Given the description of an element on the screen output the (x, y) to click on. 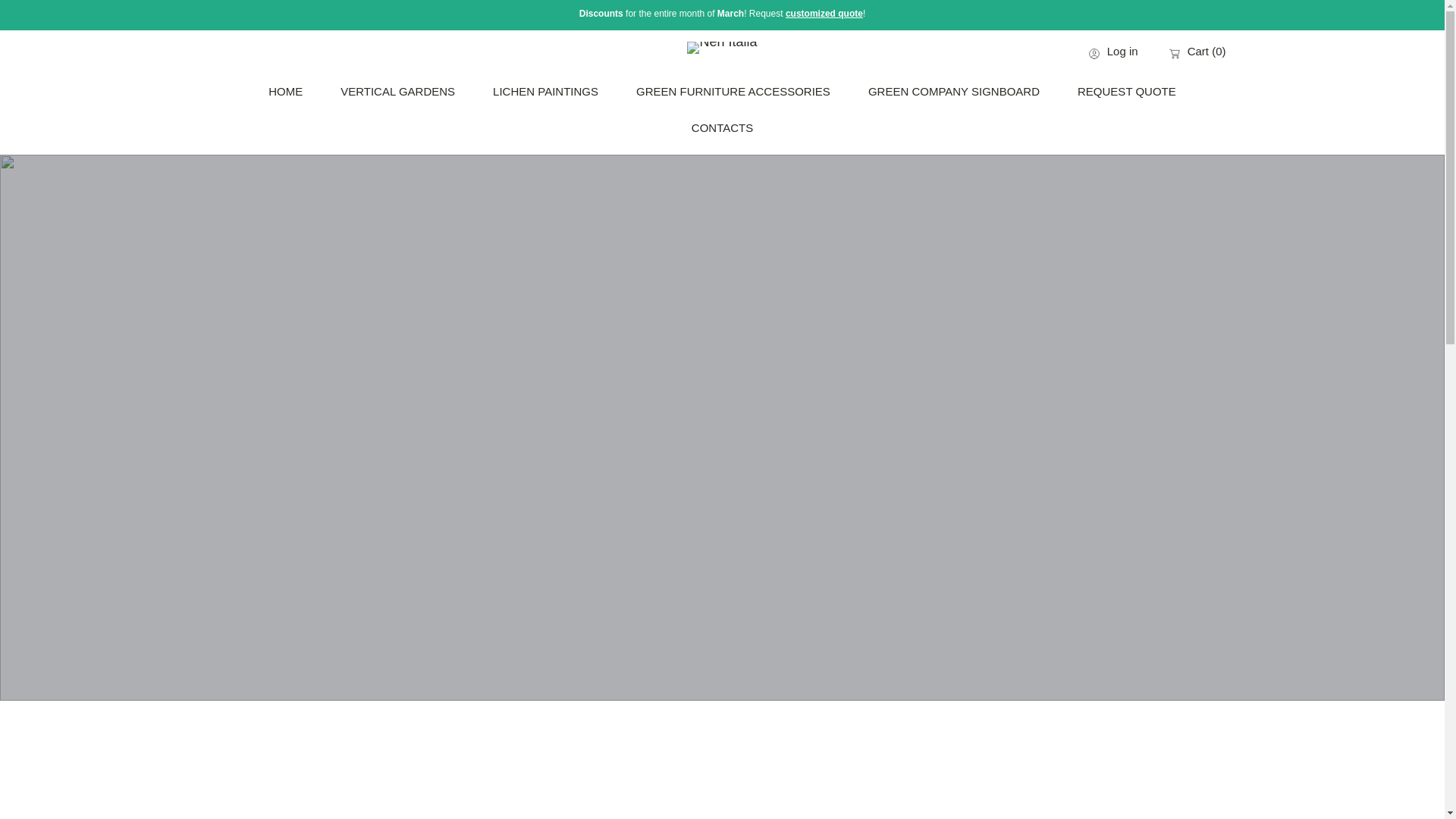
CONTACTS (721, 127)
GREEN FURNITURE ACCESSORIES (732, 91)
LICHEN PAINTINGS (545, 91)
VERTICAL GARDENS (397, 91)
SKIP TO CONTENT (75, 18)
Log in (1113, 53)
HOME (284, 91)
REQUEST QUOTE (1126, 91)
WALLS (824, 13)
customized quote (824, 13)
GREEN COMPANY SIGNBOARD (953, 91)
